Given the description of an element on the screen output the (x, y) to click on. 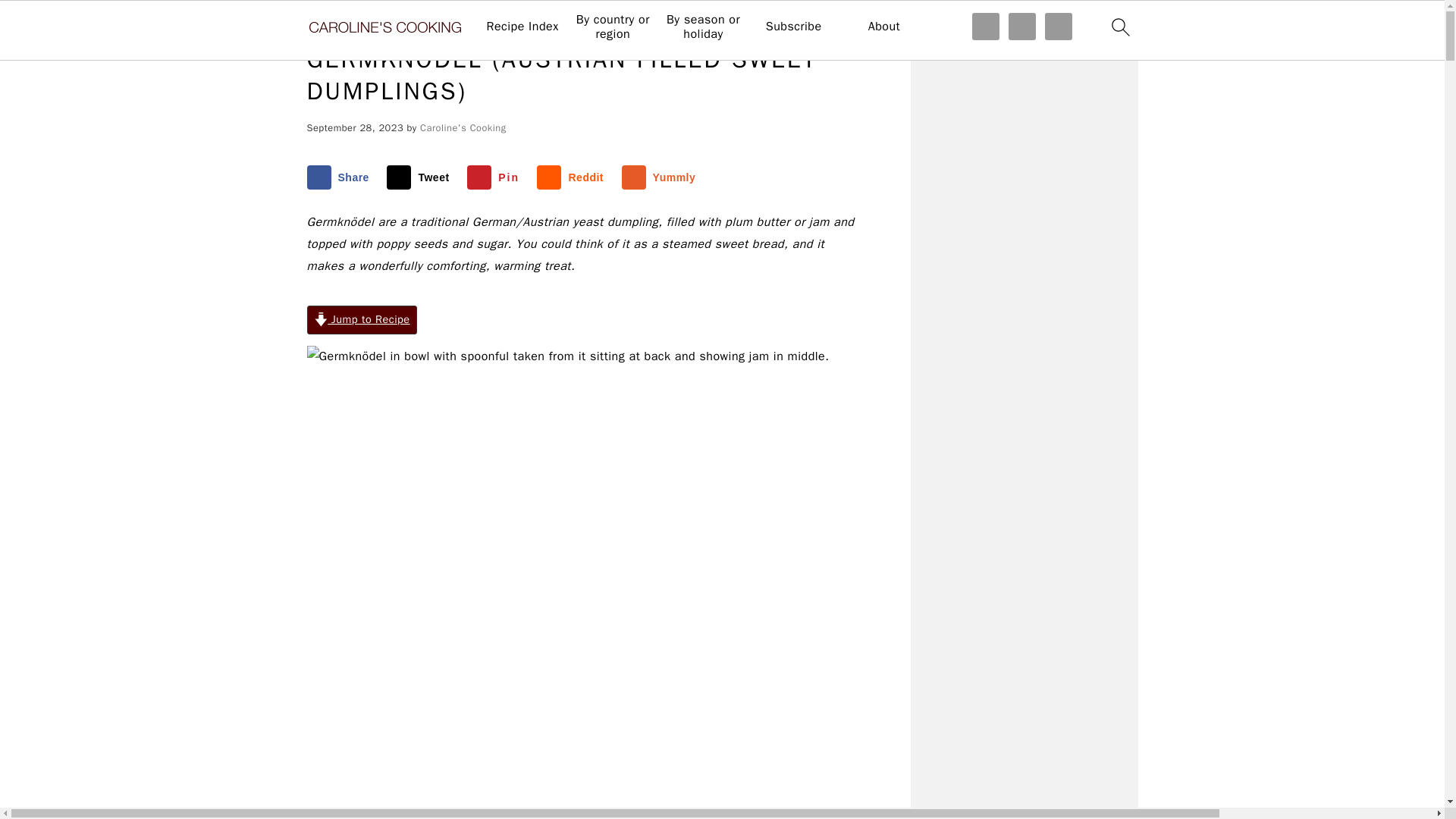
About (883, 26)
Share on X (421, 177)
By season or holiday (703, 27)
Share on Facebook (340, 177)
Share on Yummly (662, 177)
By country or region (612, 27)
Share on Reddit (573, 177)
Subscribe (793, 26)
Recipe Index (522, 26)
